Given the description of an element on the screen output the (x, y) to click on. 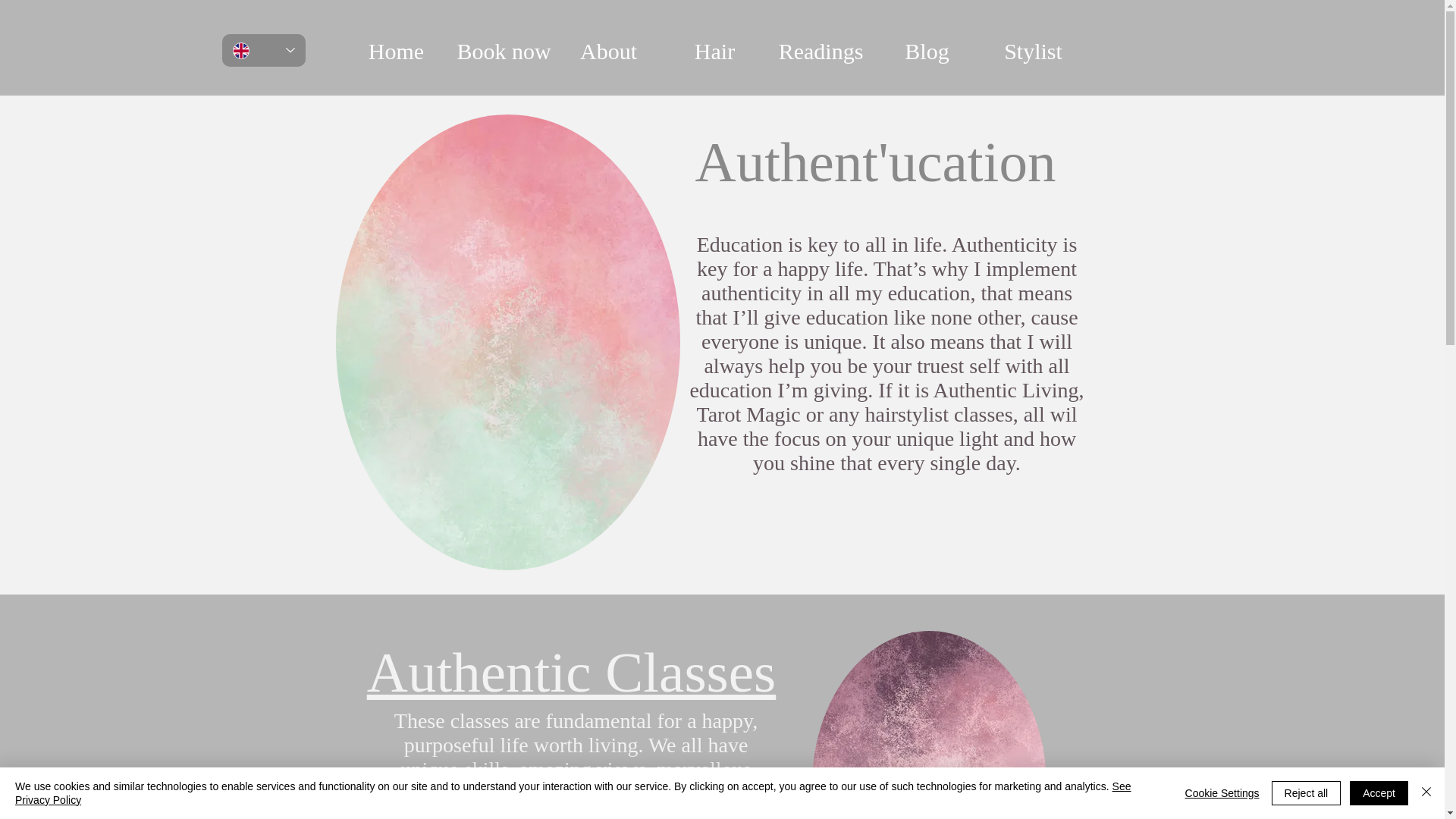
Blog (926, 51)
Reject all (1305, 793)
See Privacy Policy (572, 792)
Readings (820, 51)
Stylist (1032, 51)
Home (395, 51)
Hair (714, 51)
Book now (501, 51)
Accept (1378, 793)
Authentic Classes (571, 671)
About (607, 51)
